Given the description of an element on the screen output the (x, y) to click on. 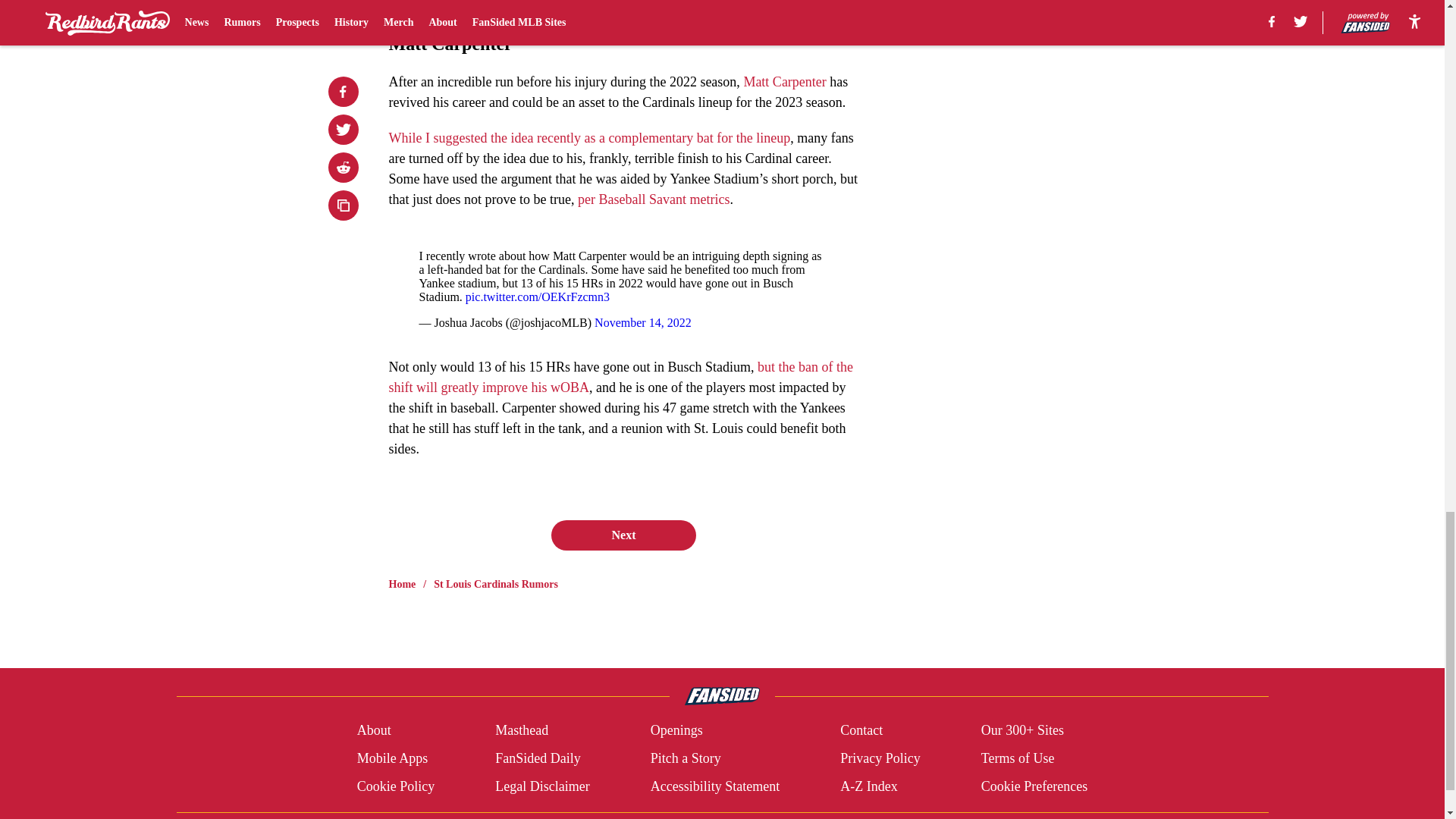
About (373, 730)
Openings (676, 730)
St Louis Cardinals Rumors (495, 584)
Mobile Apps (392, 758)
Next (622, 535)
but the ban of the shift will greatly improve his wOBA (619, 376)
Pitch a Story (685, 758)
Contact (861, 730)
Masthead (521, 730)
per Baseball Savant metrics (653, 199)
FanSided Daily (537, 758)
Matt Carpenter (783, 81)
November 14, 2022 (642, 322)
Home (401, 584)
